Given the description of an element on the screen output the (x, y) to click on. 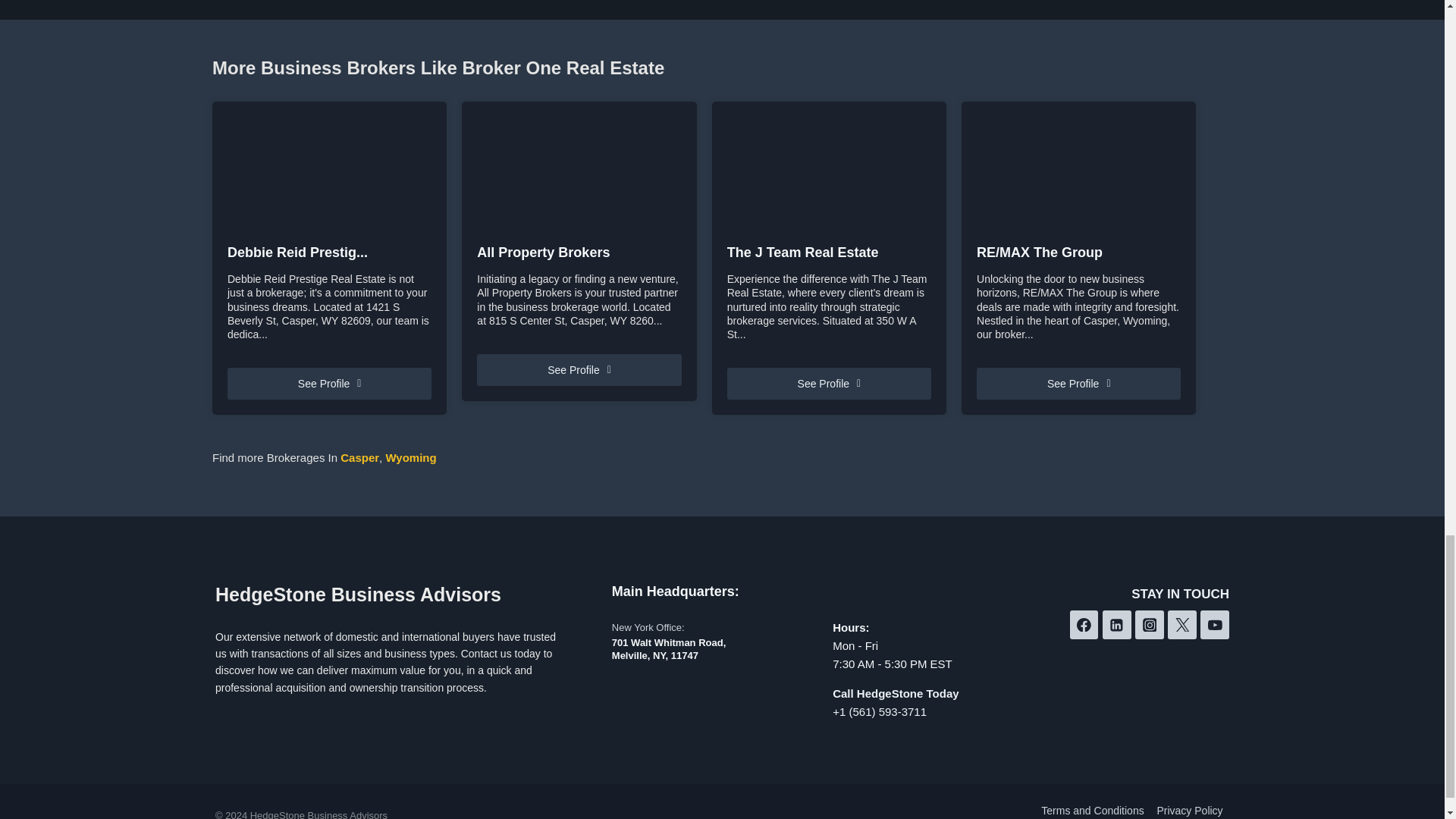
See Profile (579, 369)
Debbie Reid Prestig... (328, 253)
See Profile (328, 383)
All Property Brokers (579, 253)
